Given the description of an element on the screen output the (x, y) to click on. 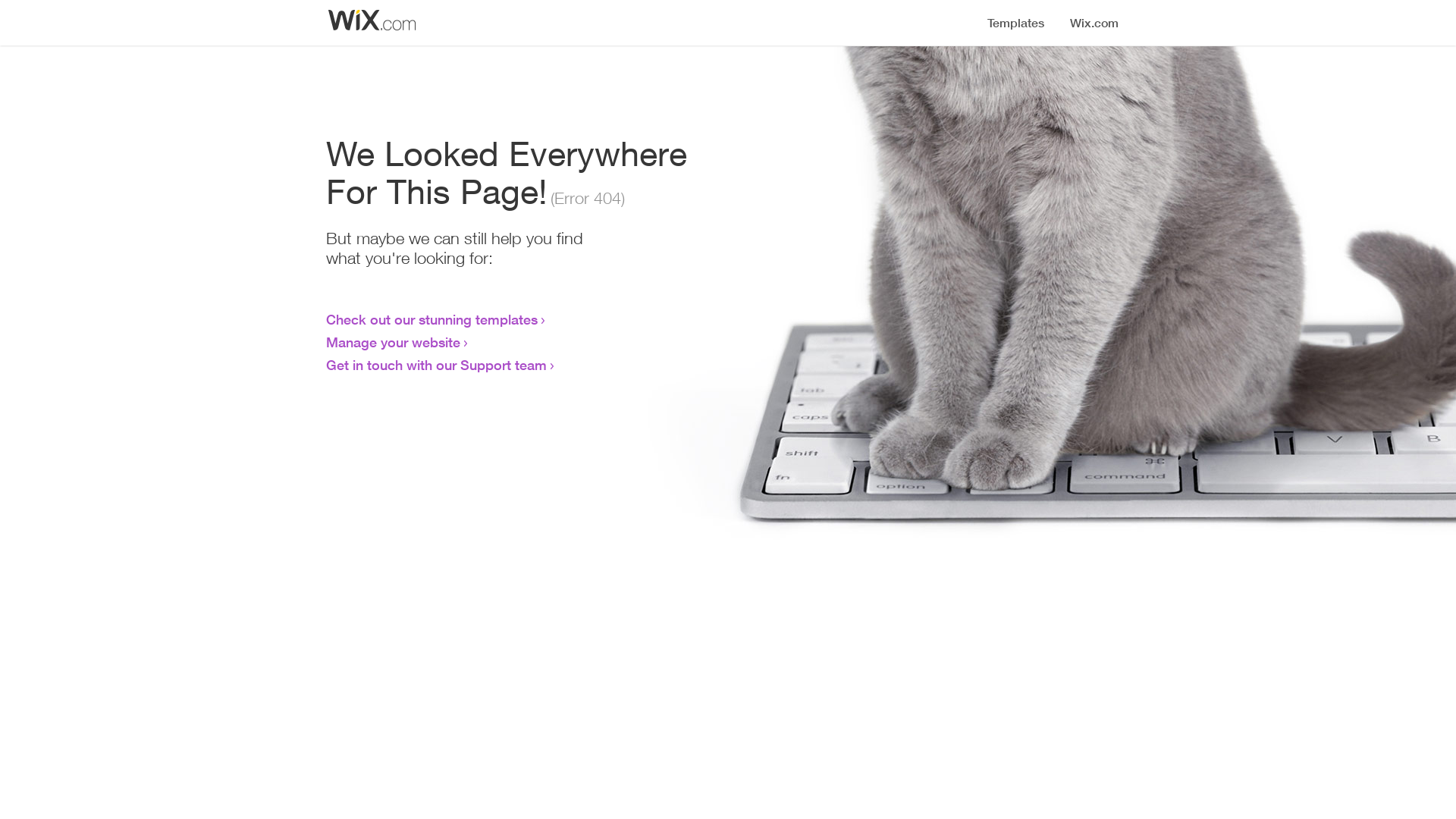
Get in touch with our Support team Element type: text (436, 364)
Check out our stunning templates Element type: text (431, 318)
Manage your website Element type: text (393, 341)
